Given the description of an element on the screen output the (x, y) to click on. 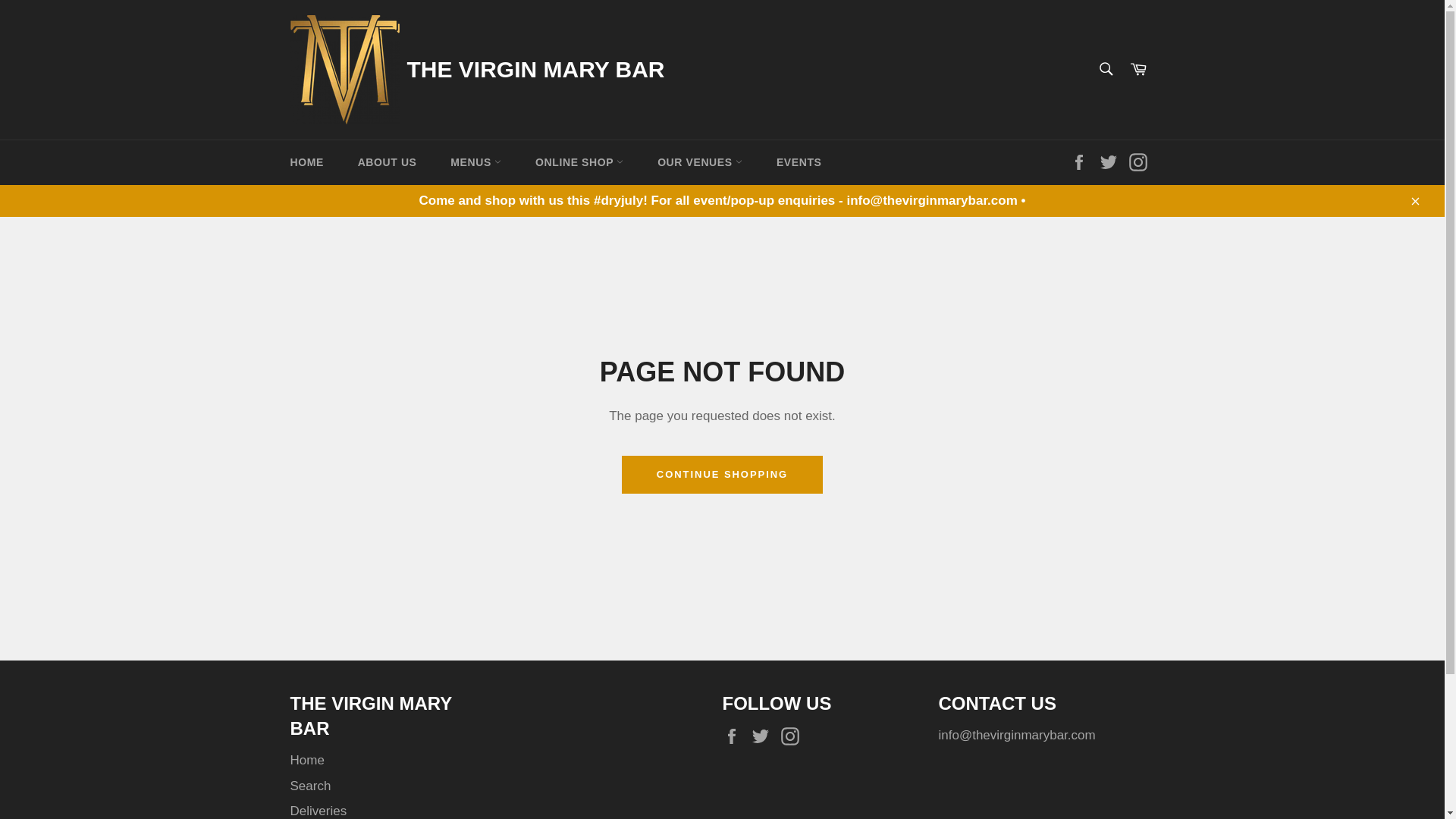
The Virgin Mary Bar on Instagram (1141, 161)
The Virgin Mary Bar on Facebook (735, 735)
HOME (306, 162)
THE VIRGIN MARY BAR (536, 69)
ONLINE SHOP (579, 162)
The Virgin Mary Bar on Twitter (1112, 161)
MENUS (475, 162)
Cart (1138, 69)
The Virgin Mary Bar on Instagram (793, 735)
The Virgin Mary Bar on Facebook (1083, 161)
Search (1104, 69)
The Virgin Mary Bar on Twitter (764, 735)
ABOUT US (387, 162)
